Given the description of an element on the screen output the (x, y) to click on. 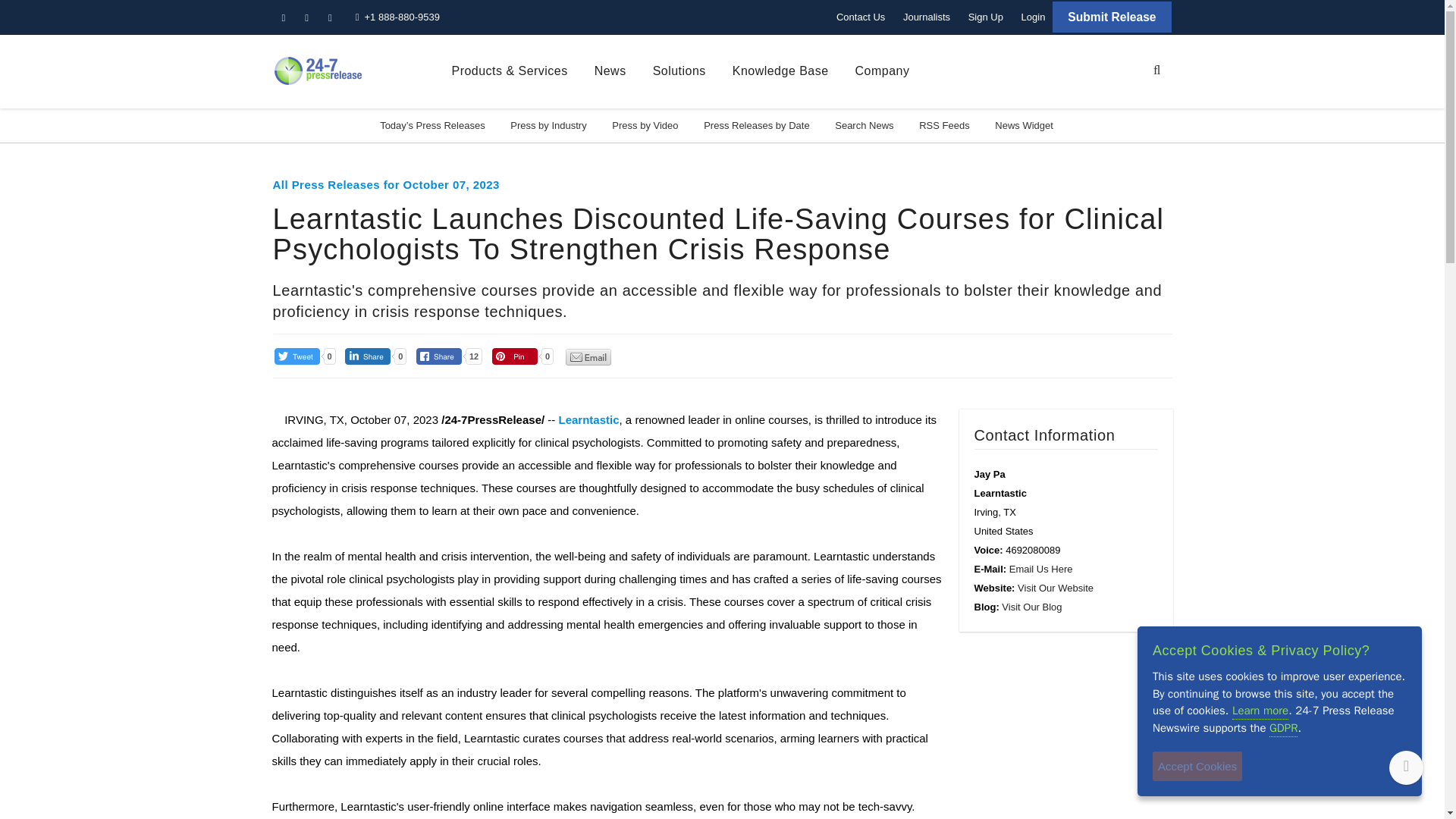
Login (1032, 16)
Knowledge Base (780, 71)
Submit Release (1111, 16)
Solutions (679, 71)
Sign Up (985, 16)
Contact Us (860, 16)
Journalists (926, 16)
Company (882, 71)
